Given the description of an element on the screen output the (x, y) to click on. 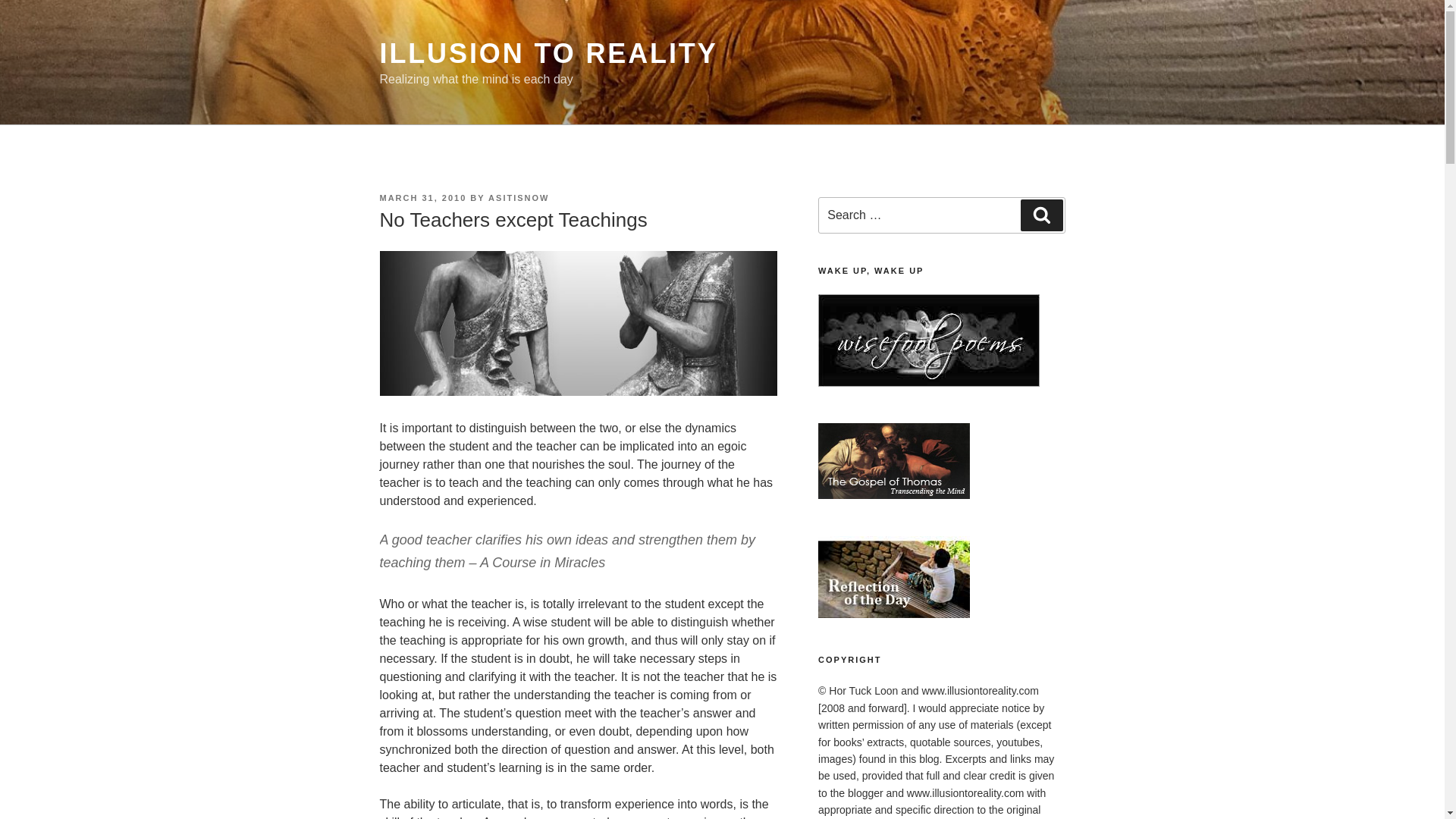
Search (1041, 214)
ASITISNOW (517, 197)
ILLUSION TO REALITY (547, 52)
MARCH 31, 2010 (421, 197)
teach (577, 322)
